Given the description of an element on the screen output the (x, y) to click on. 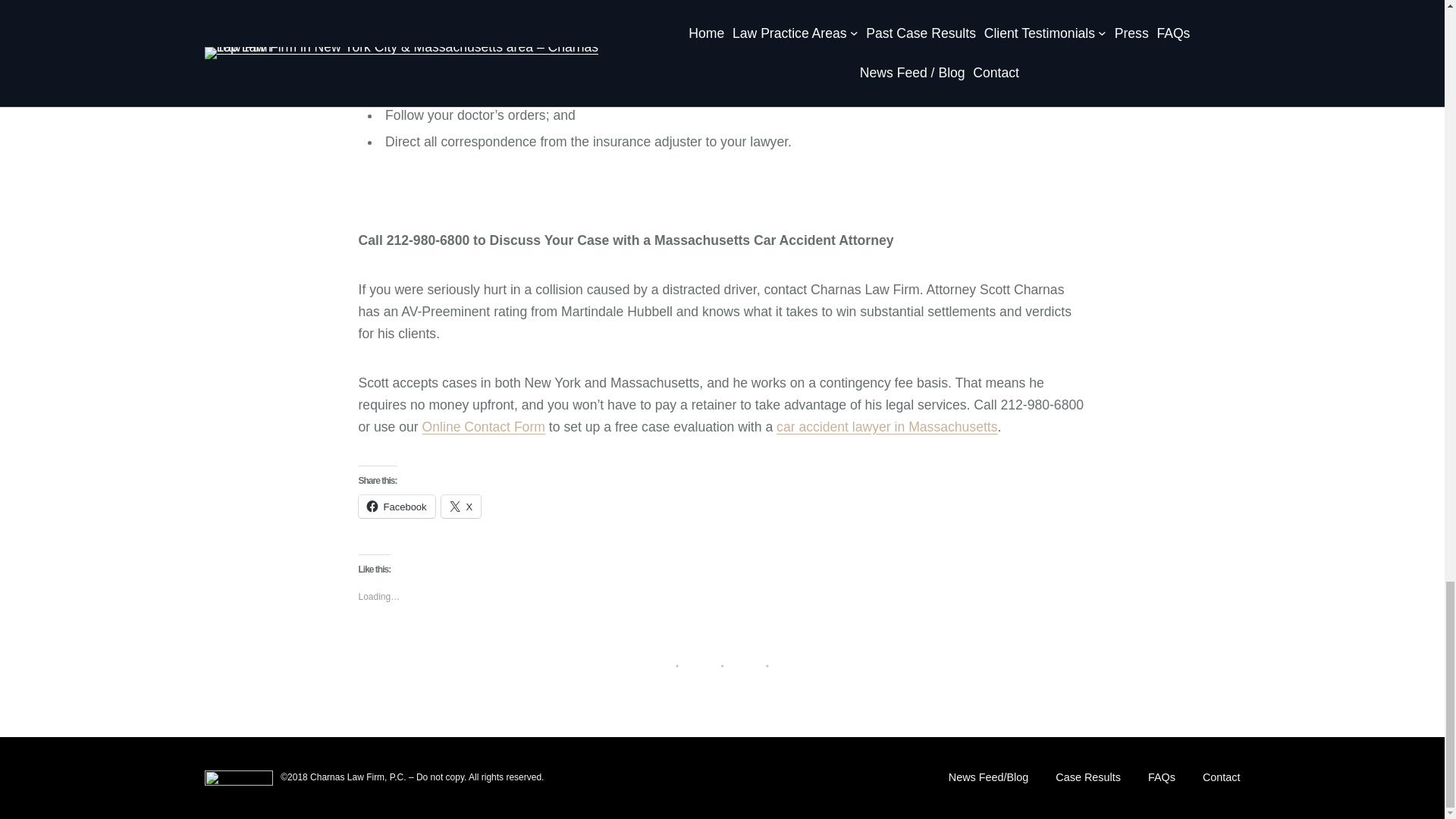
X (461, 506)
car accident lawyer in Massachusetts (886, 426)
Online Contact Form (483, 426)
Click to share on X (461, 506)
Facebook (395, 506)
Case Results (1088, 778)
Click to share on Facebook (395, 506)
FAQs (1161, 778)
Contact (1221, 778)
